Given the description of an element on the screen output the (x, y) to click on. 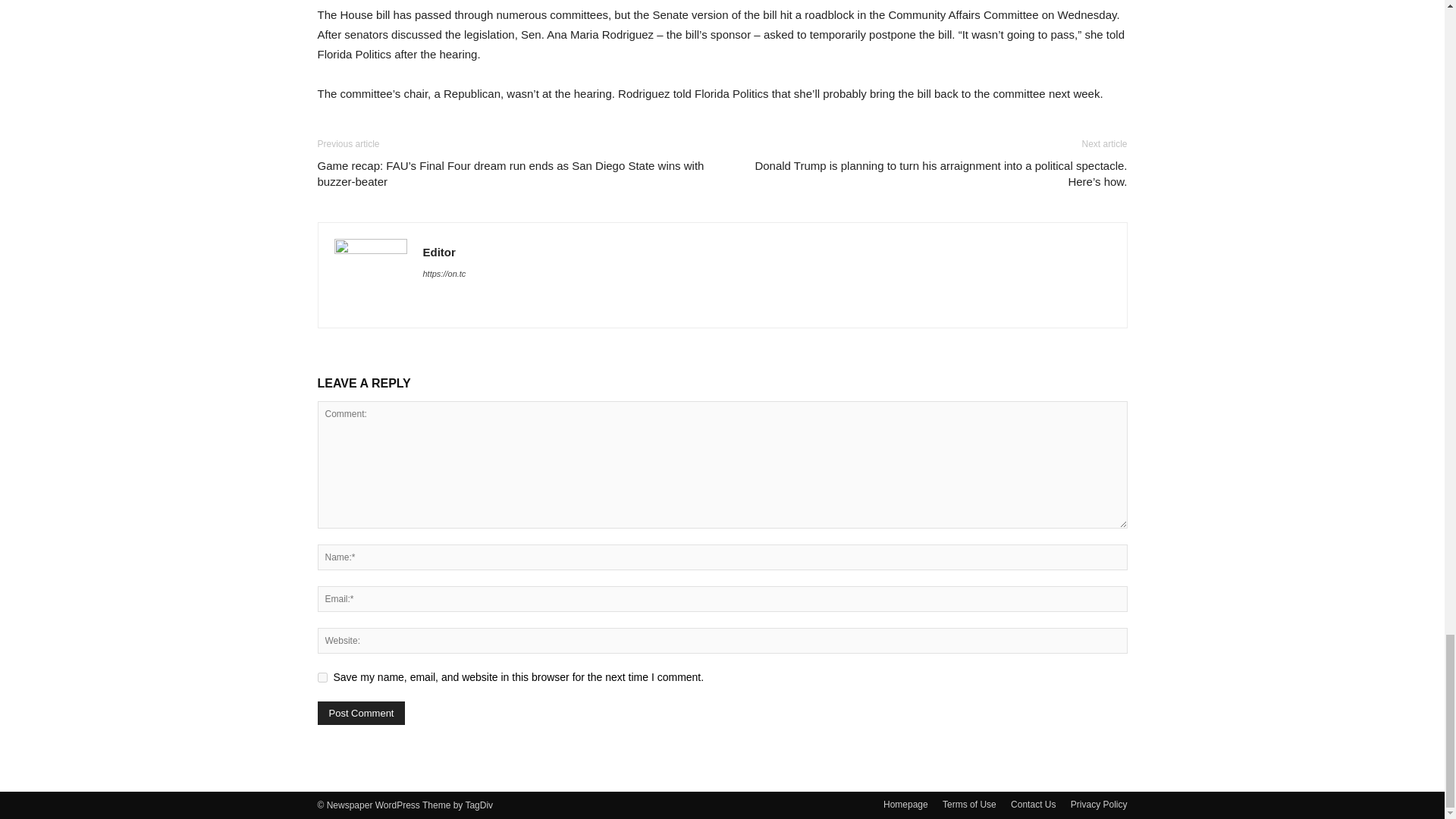
Terms of Use (968, 804)
Post Comment (360, 712)
Post Comment (360, 712)
Homepage (905, 804)
Editor (439, 251)
yes (321, 677)
Privacy Policy (1098, 804)
Contact Us (1032, 804)
